Given the description of an element on the screen output the (x, y) to click on. 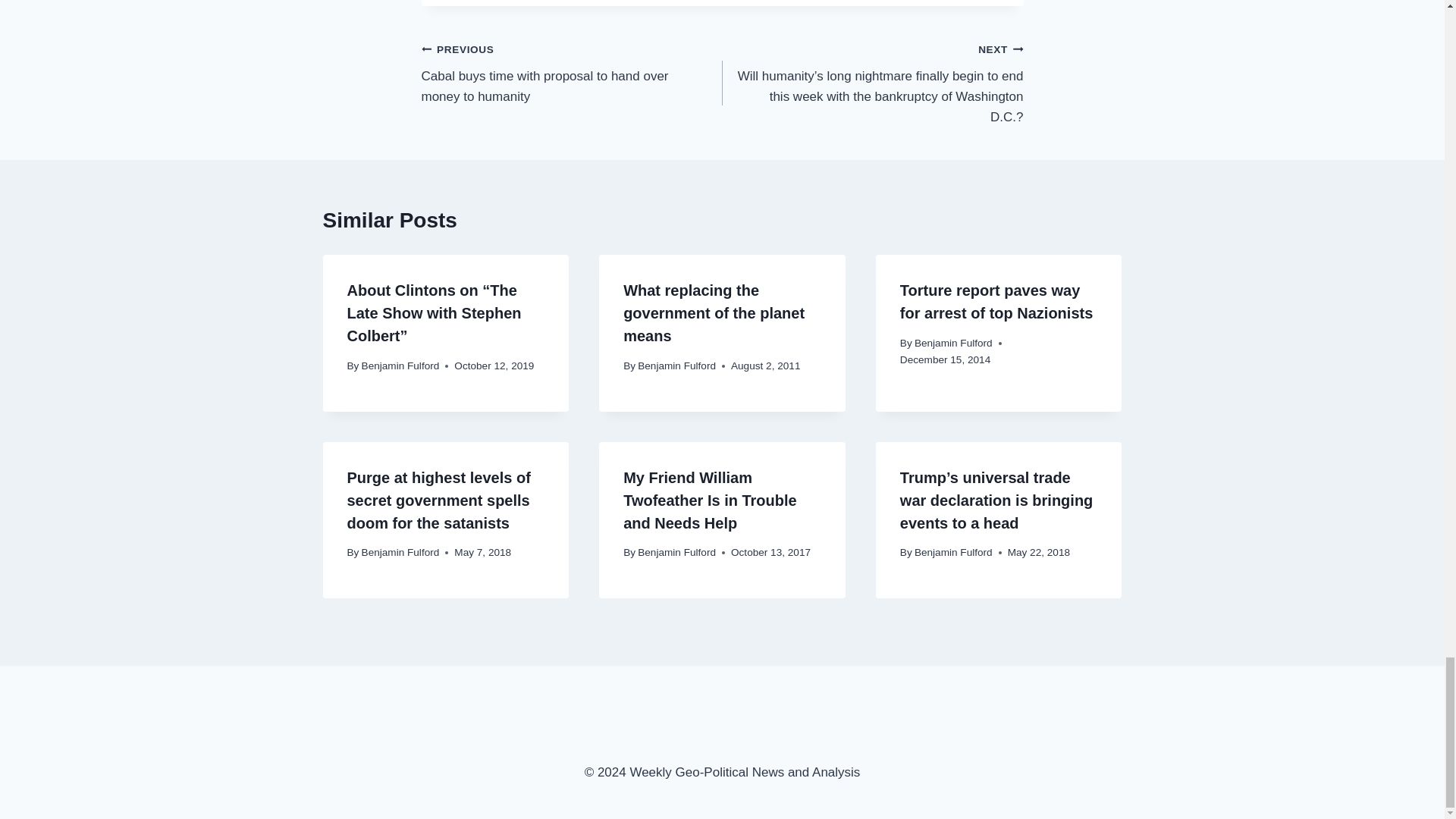
What replacing the government of the planet means (714, 312)
Benjamin Fulford (953, 342)
Torture report paves way for arrest of top Nazionists (996, 301)
Benjamin Fulford (676, 365)
Benjamin Fulford (400, 365)
